Given the description of an element on the screen output the (x, y) to click on. 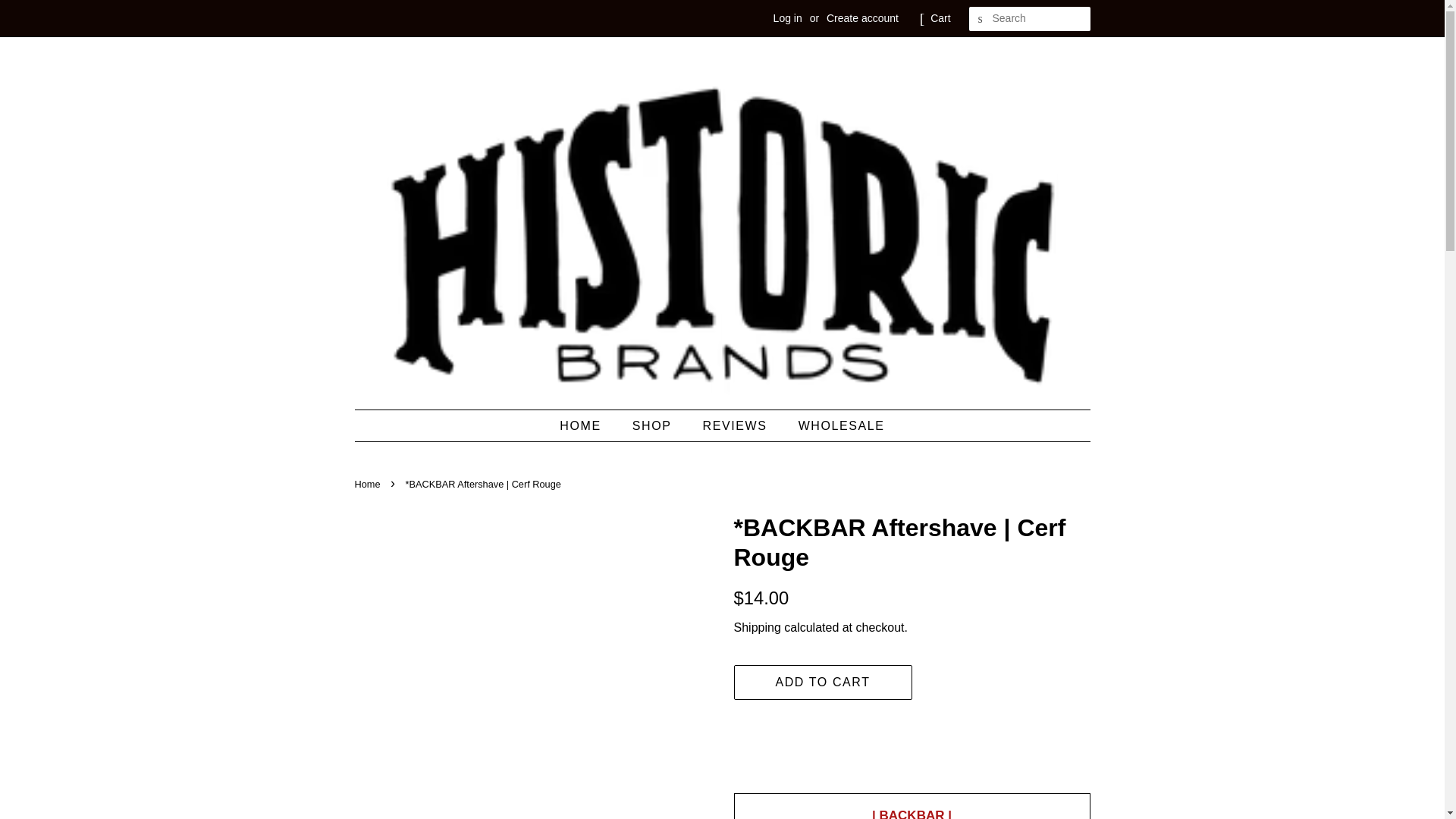
SEARCH (980, 18)
Back to the frontpage (369, 483)
WHOLESALE (836, 425)
Create account (862, 18)
Cart (940, 18)
ADD TO CART (822, 683)
Shipping (756, 626)
Log in (787, 18)
HOME (587, 425)
SHOP (654, 425)
